Given the description of an element on the screen output the (x, y) to click on. 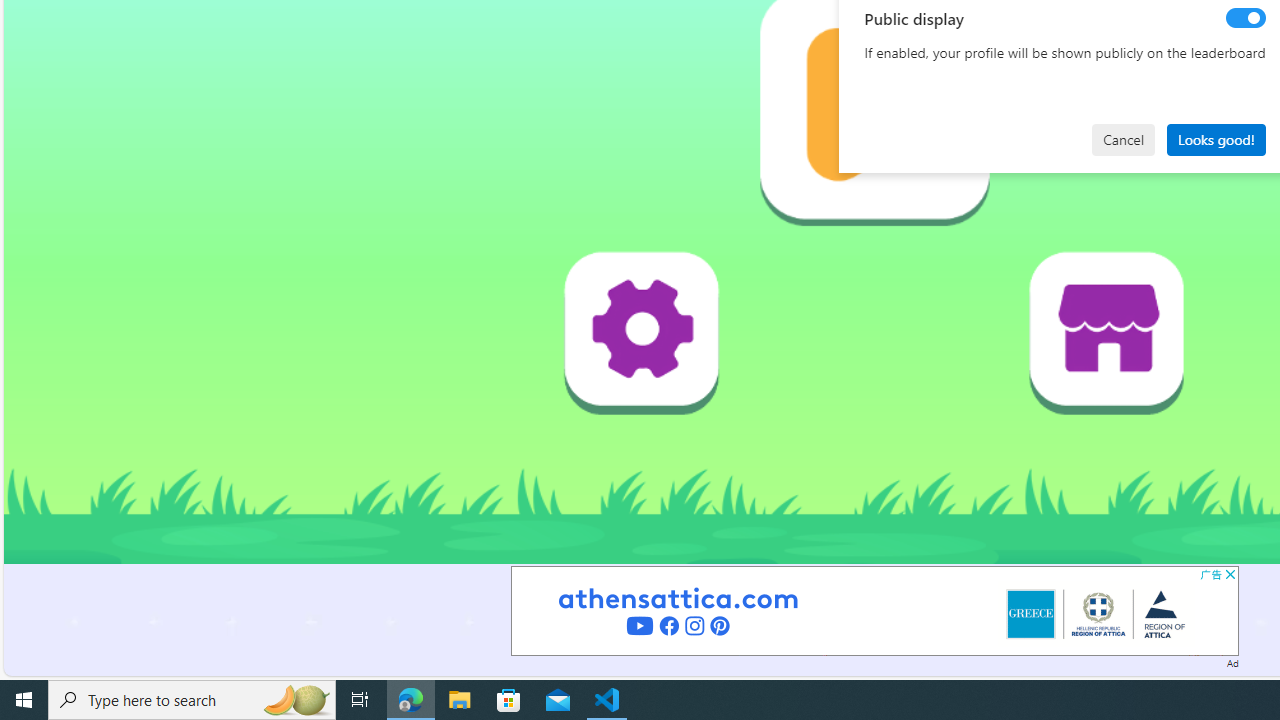
Type here to search (191, 699)
Search highlights icon opens search home window (295, 699)
Visual Studio Code - 1 running window (607, 699)
Microsoft Edge - 1 running window (411, 699)
Advertisement (874, 610)
Looks good! (1216, 139)
AutomationID: cbb (1229, 574)
Cancel (1123, 139)
File Explorer (460, 699)
Microsoft Store (509, 699)
Start (24, 699)
Task View (359, 699)
